Given the description of an element on the screen output the (x, y) to click on. 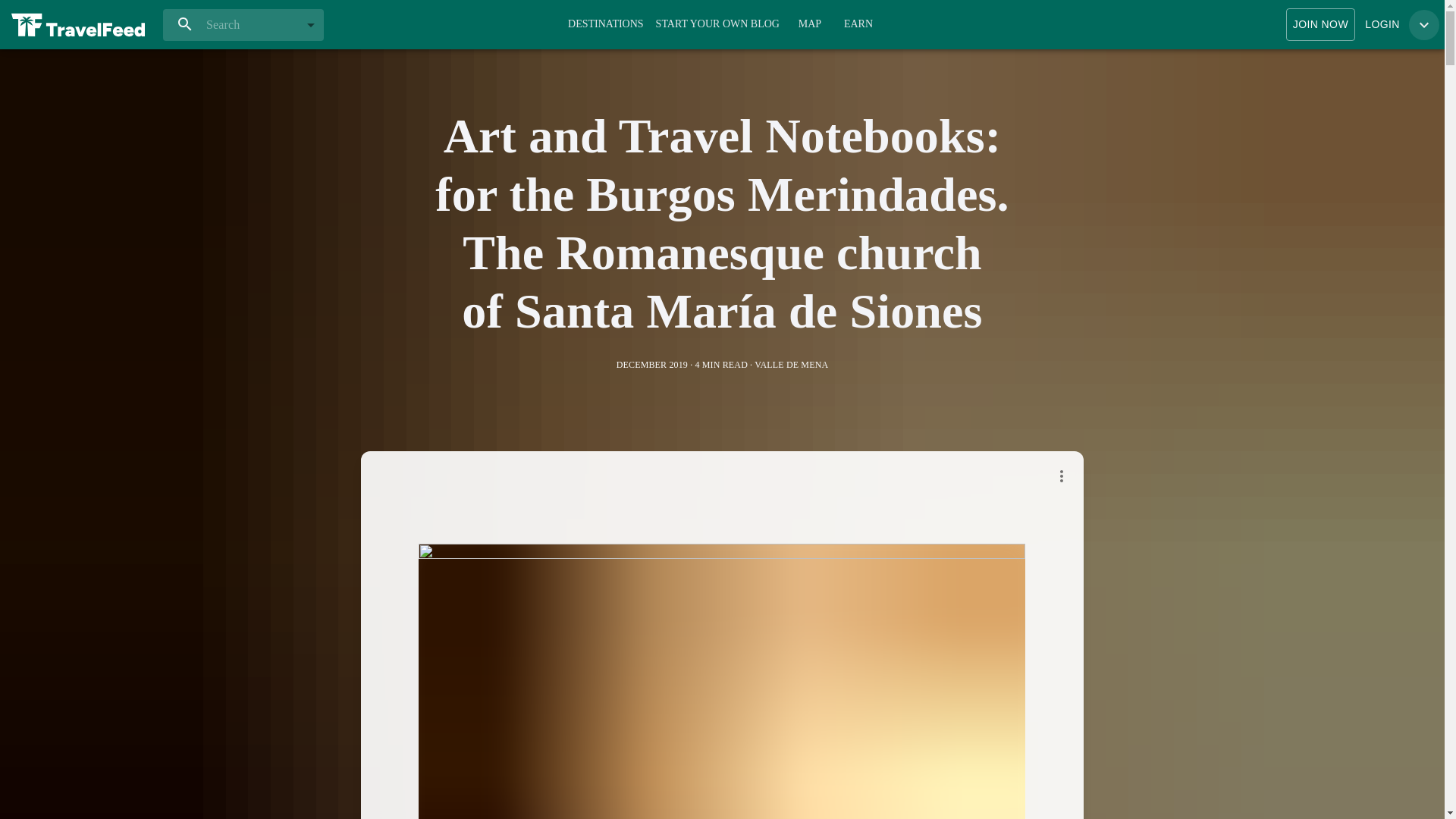
START YOUR OWN BLOG (717, 24)
Open (310, 24)
EARN (858, 24)
LOGIN (1382, 24)
EARN (858, 22)
VALLE DE MENA (791, 364)
DESTINATIONS (605, 24)
JOIN NOW (1320, 24)
DESTINATIONS (605, 22)
MAP (810, 22)
START YOUR OWN BLOG (717, 22)
MAP (810, 24)
